Given the description of an element on the screen output the (x, y) to click on. 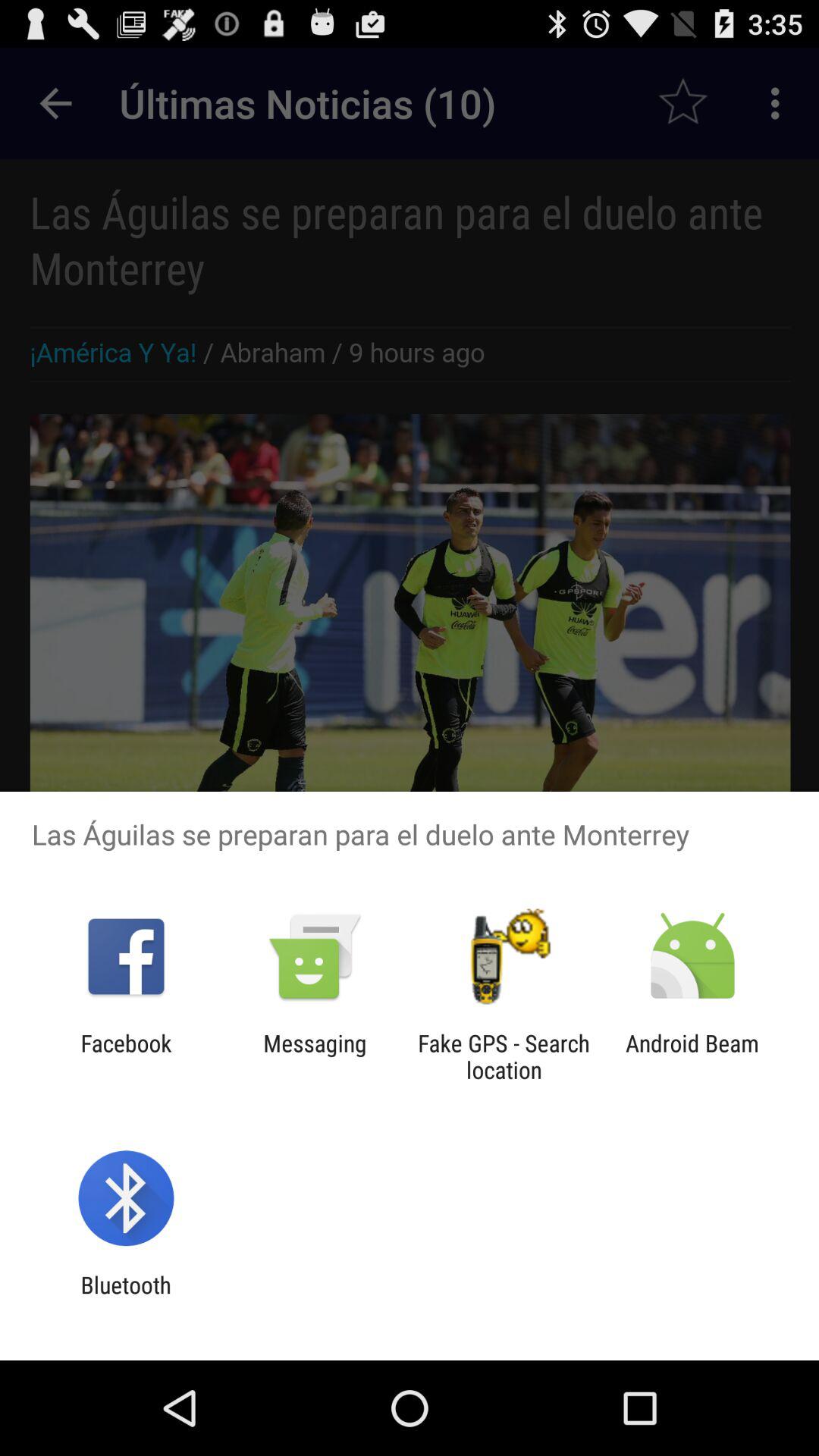
open bluetooth item (125, 1298)
